Given the description of an element on the screen output the (x, y) to click on. 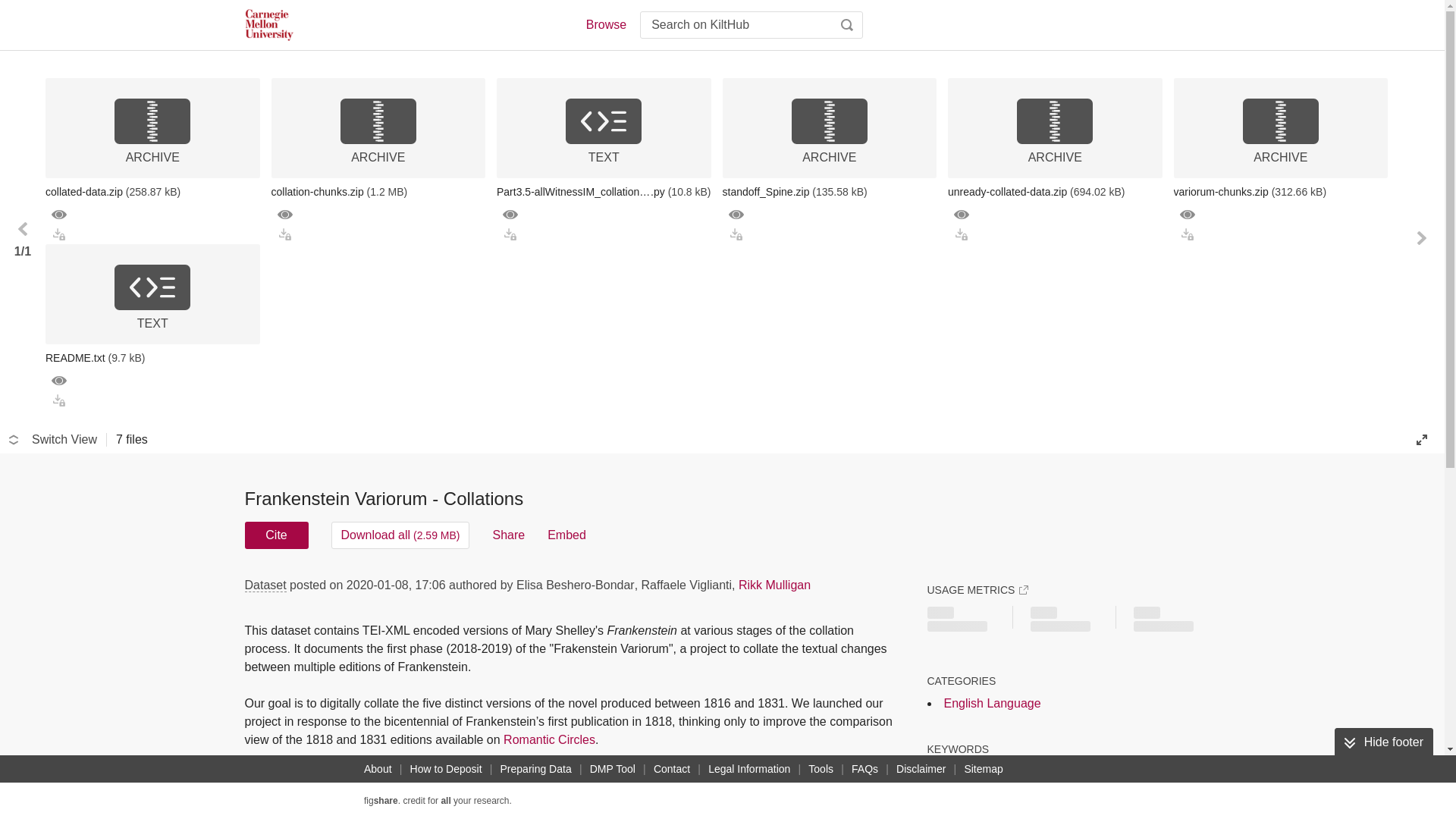
Switch View (52, 439)
Browse (605, 24)
Share (508, 534)
USAGE METRICS (976, 589)
collation-chunks.zip (378, 191)
Cite (275, 534)
Rikk Mulligan (774, 584)
Embed (566, 534)
unready-collated-data.zip (1054, 191)
Romantic Circles (549, 739)
README.txt (152, 357)
collated-data.zip (152, 191)
variorum-chunks.zip (1281, 191)
